Given the description of an element on the screen output the (x, y) to click on. 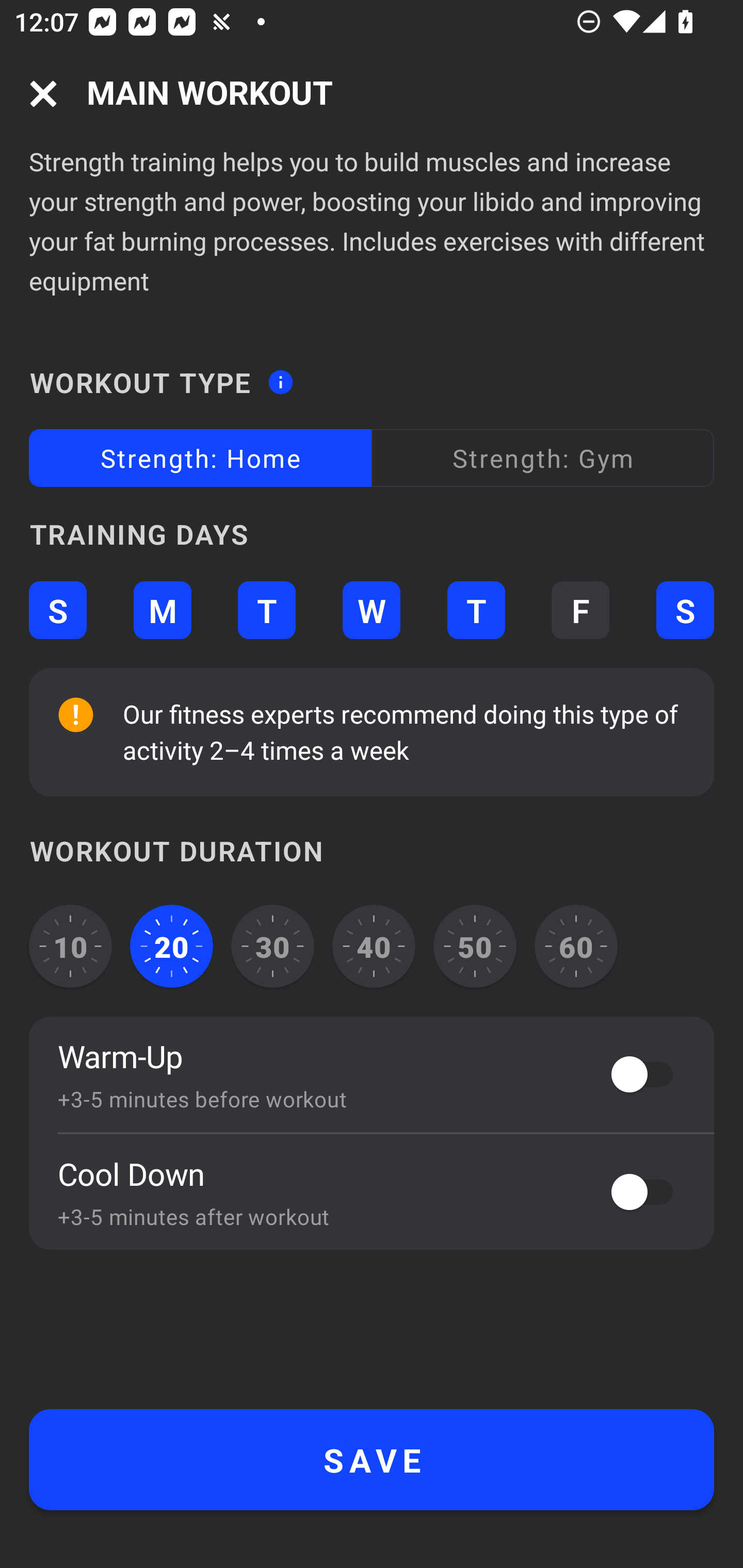
Navigation icon (43, 93)
Workout type information button (280, 375)
Strength: Home (199, 457)
Strength: Gym (542, 457)
F (580, 610)
10 (70, 946)
20 (171, 946)
30 (272, 946)
40 (373, 946)
50 (474, 946)
60 (575, 946)
SAVE (371, 1459)
